Given the description of an element on the screen output the (x, y) to click on. 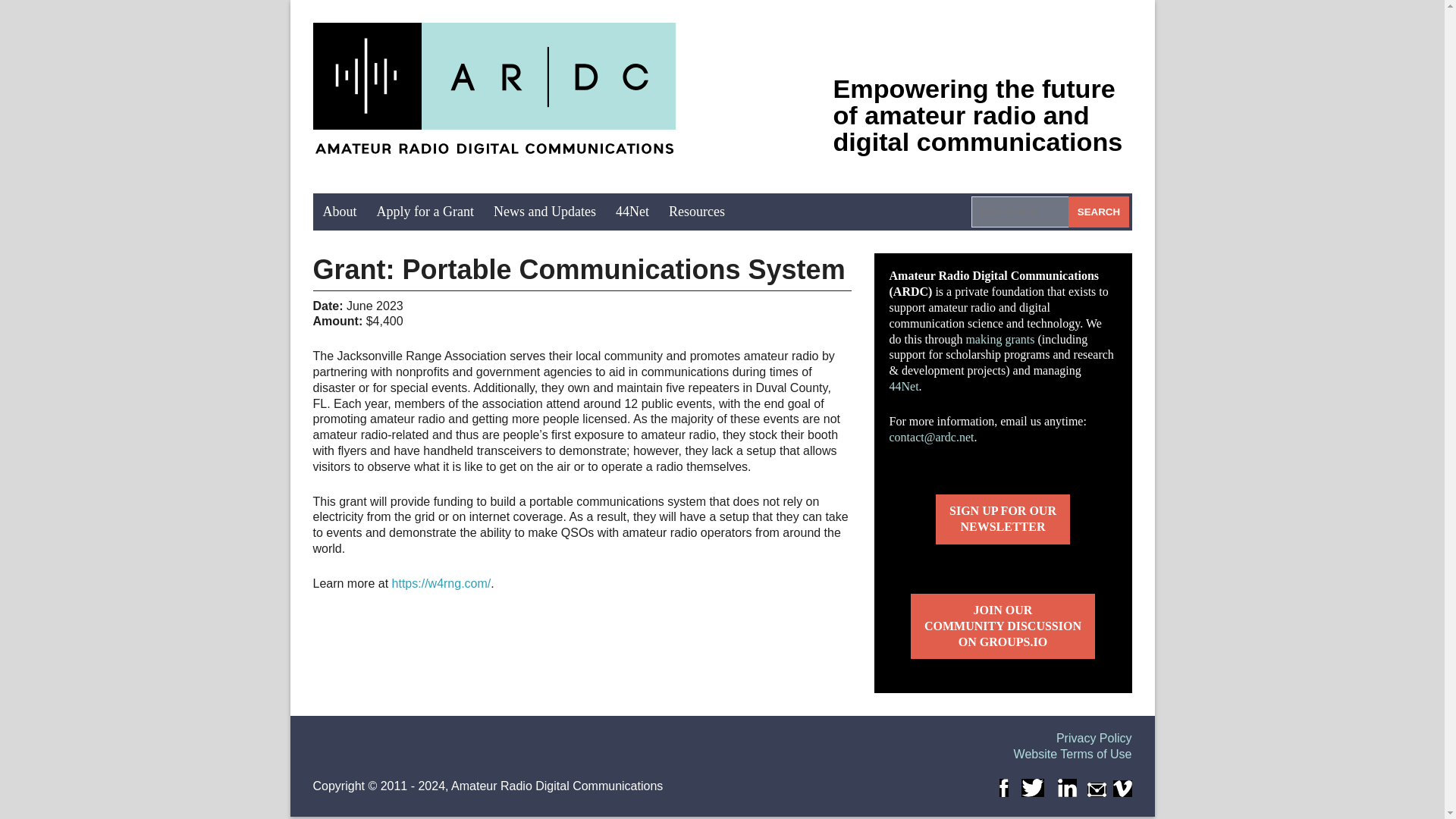
44Net (632, 211)
Apply for a Grant (424, 211)
Search (1098, 211)
About (339, 211)
News and Updates (544, 211)
